Given the description of an element on the screen output the (x, y) to click on. 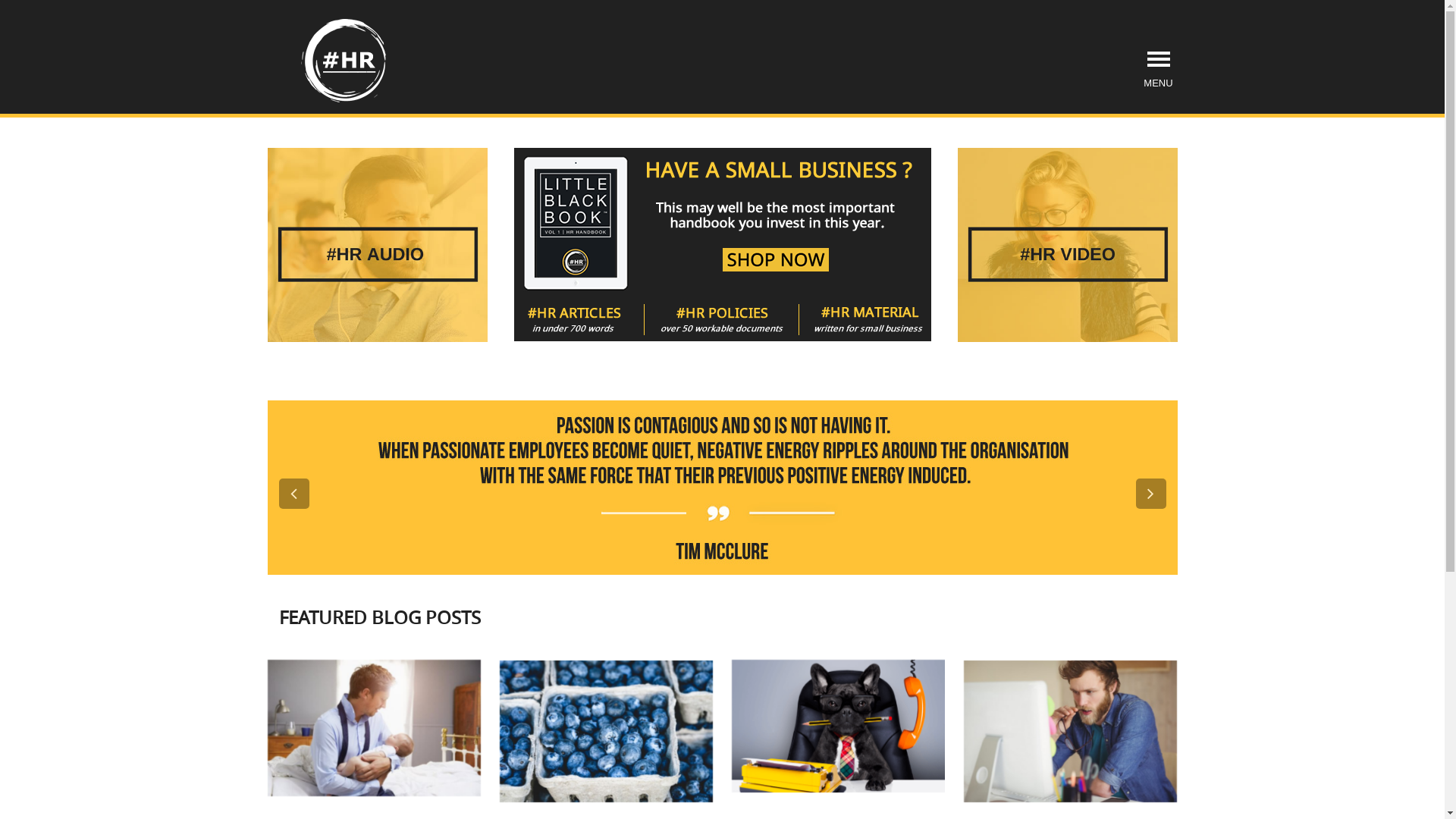
#HR Audio Element type: hover (376, 244)
#HR Video Element type: hover (1066, 244)
#HR SHOP! Element type: hover (722, 243)
